Given the description of an element on the screen output the (x, y) to click on. 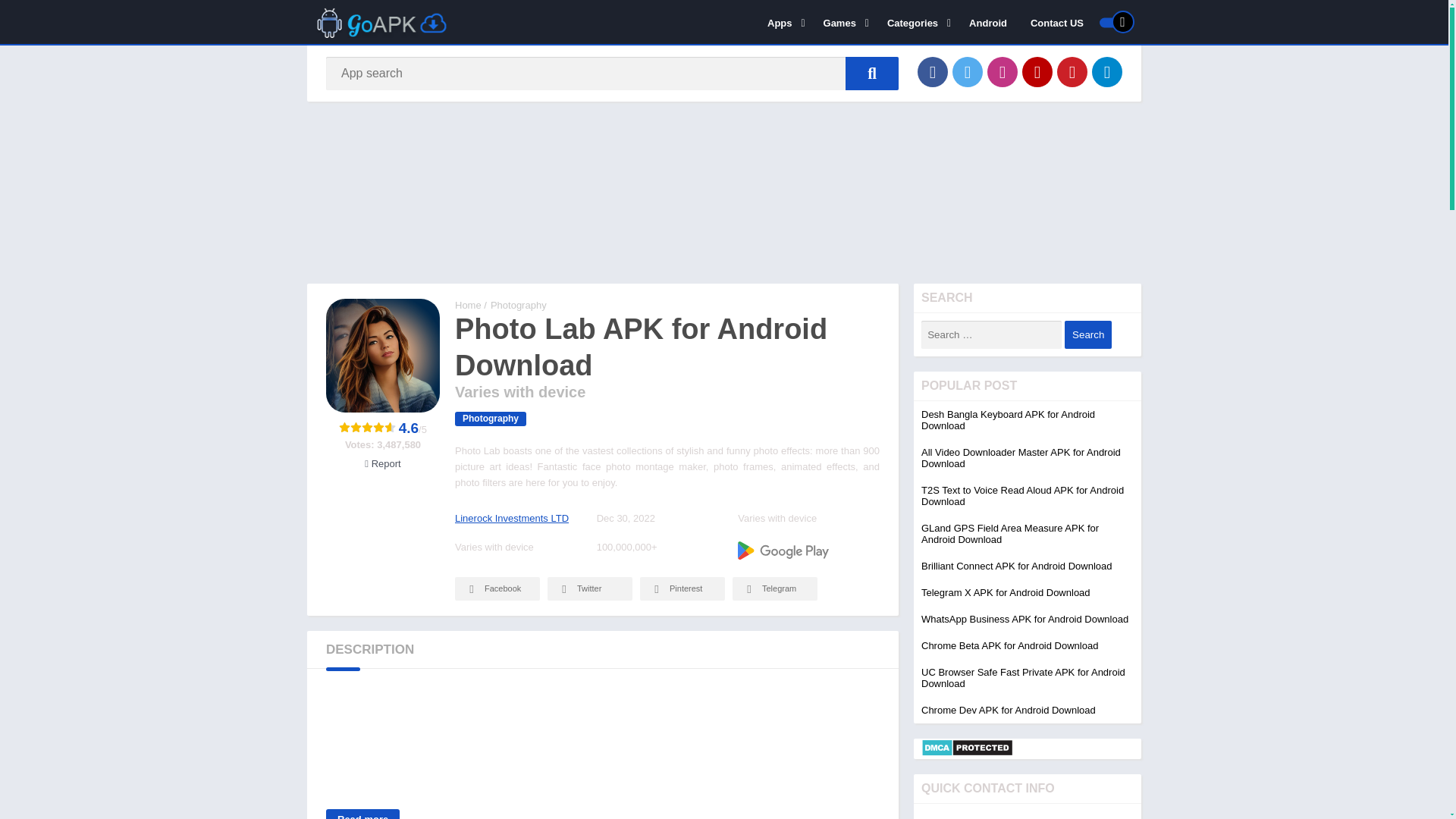
Categories (916, 22)
Photography (489, 418)
Search (1088, 334)
Linerock Investments LTD (511, 518)
Apps (782, 22)
Pinterest (1072, 71)
Home (467, 305)
Twitter (967, 71)
App search (871, 73)
Telegram (1107, 71)
